Given the description of an element on the screen output the (x, y) to click on. 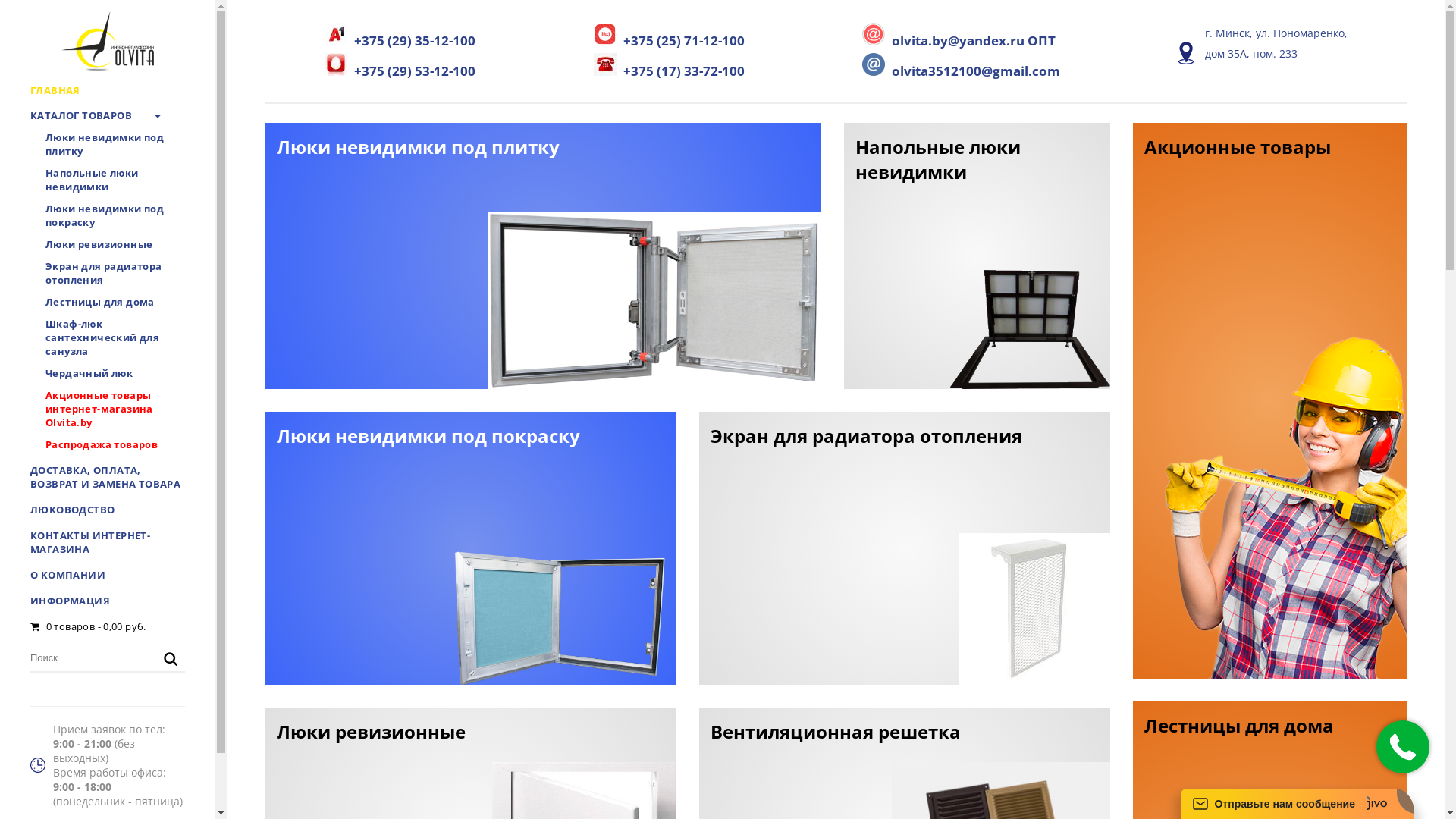
olvita3512100@gmail.com Element type: text (961, 66)
+375 (17) 33-72-100 Element type: text (668, 66)
+375 (25) 71-12-100 Element type: text (668, 35)
+375 (29) 53-12-100 Element type: text (399, 66)
+375 (29) 35-12-100 Element type: text (399, 35)
